Given the description of an element on the screen output the (x, y) to click on. 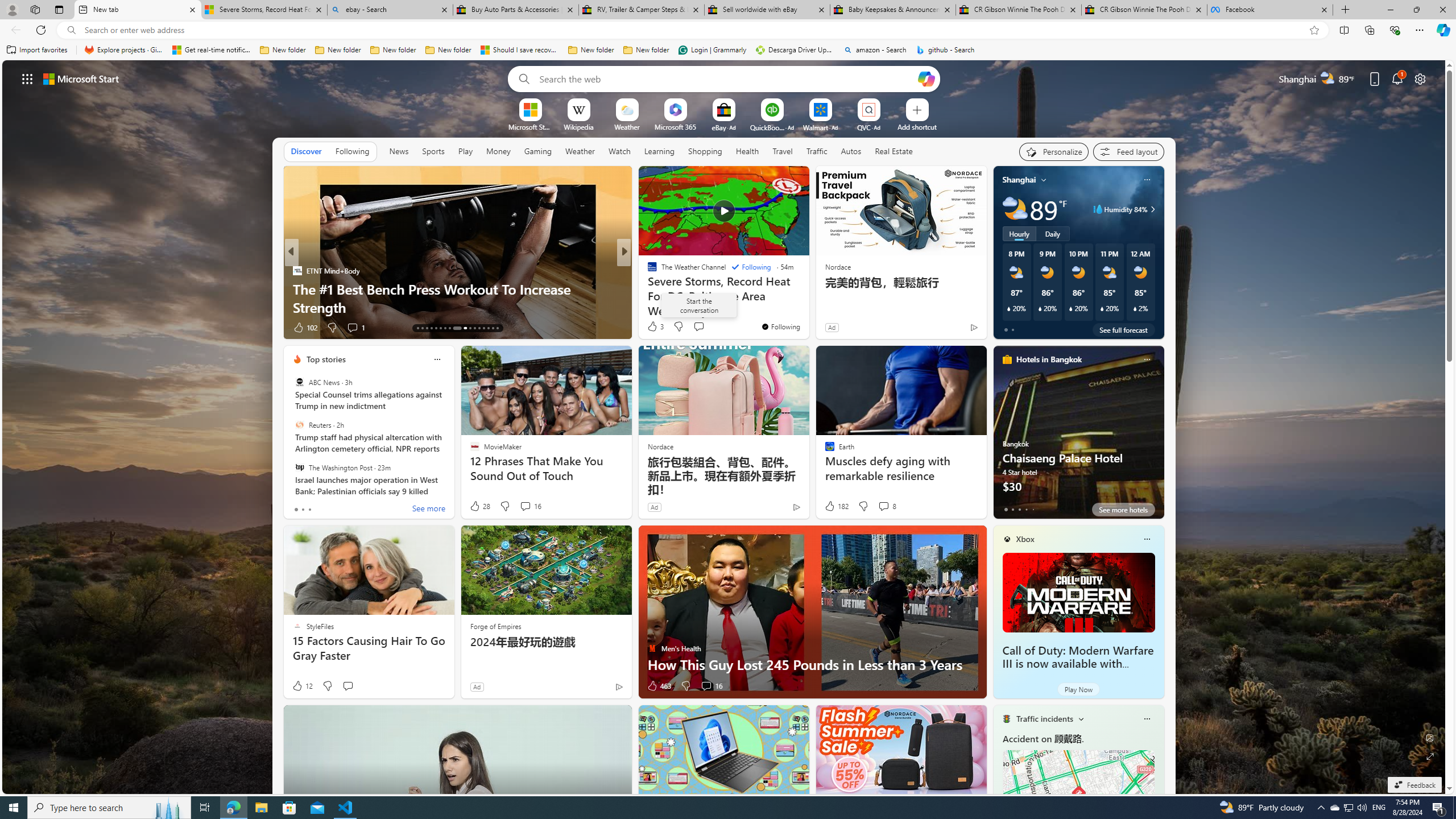
AutomationID: tab-22 (461, 328)
AutomationID: tab-29 (497, 328)
AutomationID: tab-15 (426, 328)
Import favorites (36, 49)
Chaisaeng Palace Hotel (1078, 436)
TheStreet (647, 288)
AutomationID: tab-26 (483, 328)
The History of the Windows Start Menu (807, 307)
